Given the description of an element on the screen output the (x, y) to click on. 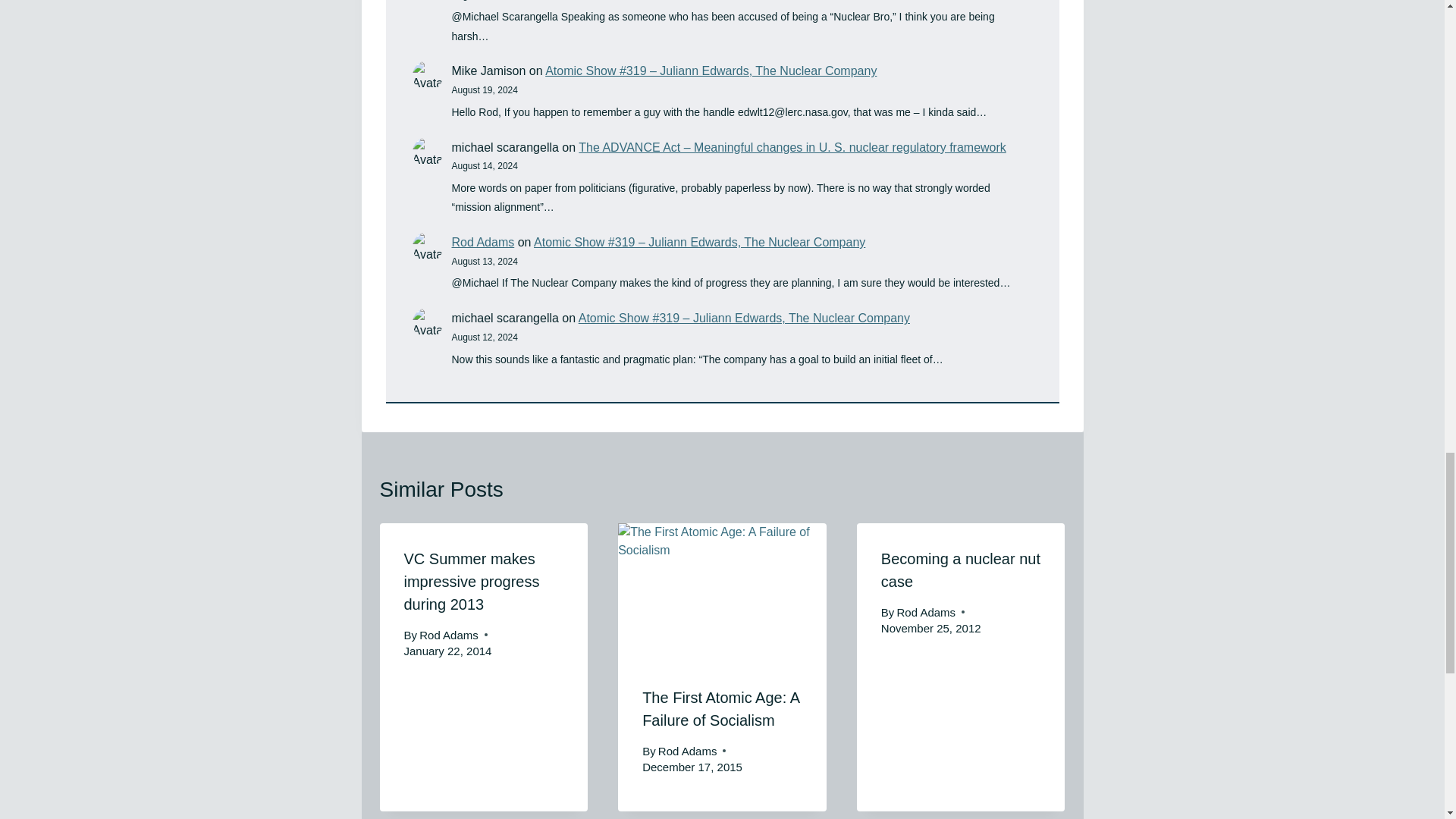
VC Summer makes impressive progress during 2013 (470, 581)
Rod Adams (687, 750)
The First Atomic Age: A Failure of Socialism (720, 708)
Rod Adams (449, 634)
The First Atomic Age: A Failure of Socialism 2 (722, 592)
Rod Adams (926, 612)
Becoming a nuclear nut case (960, 569)
Rod Adams (483, 241)
